Given the description of an element on the screen output the (x, y) to click on. 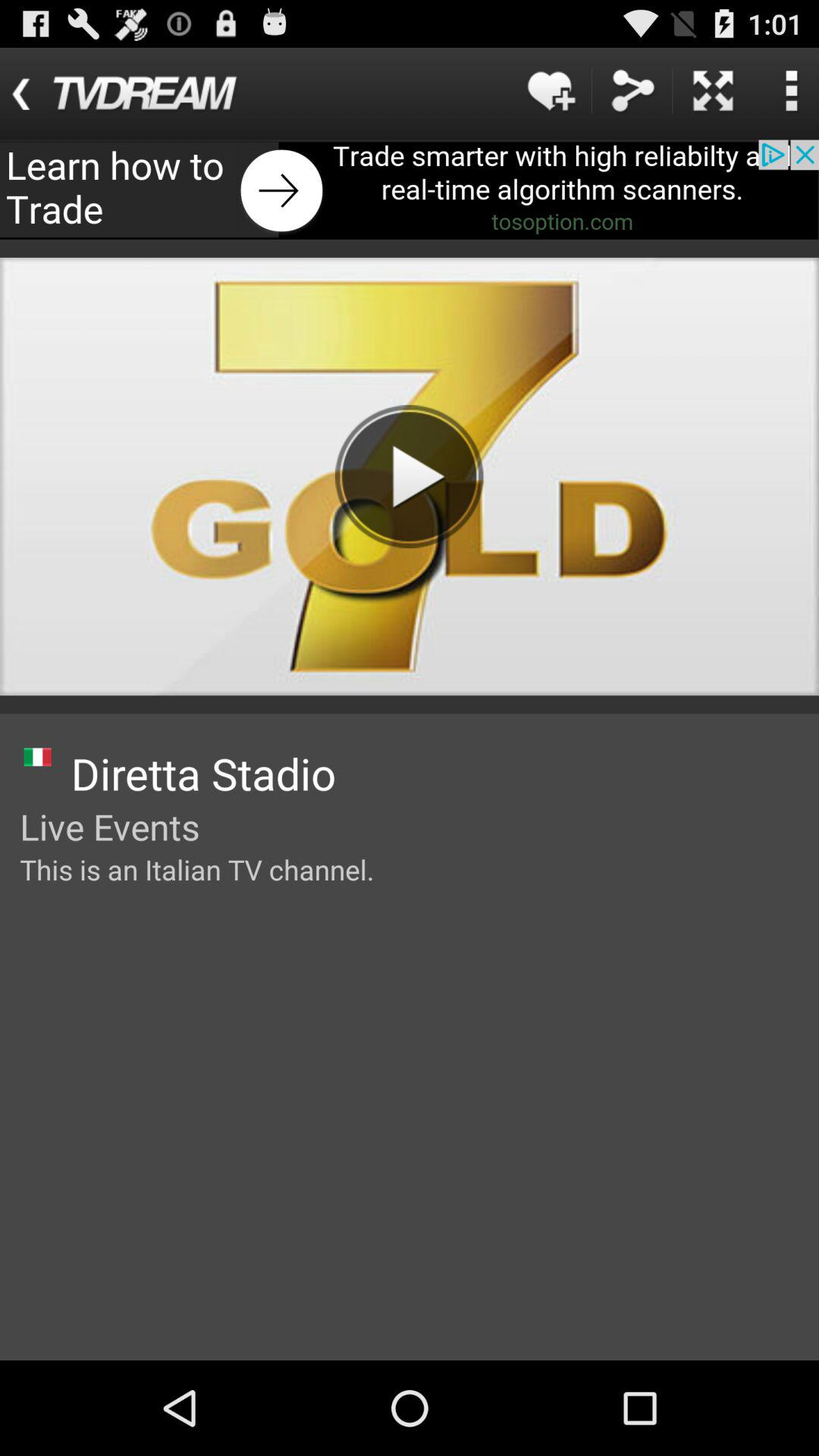
play media (408, 476)
